Given the description of an element on the screen output the (x, y) to click on. 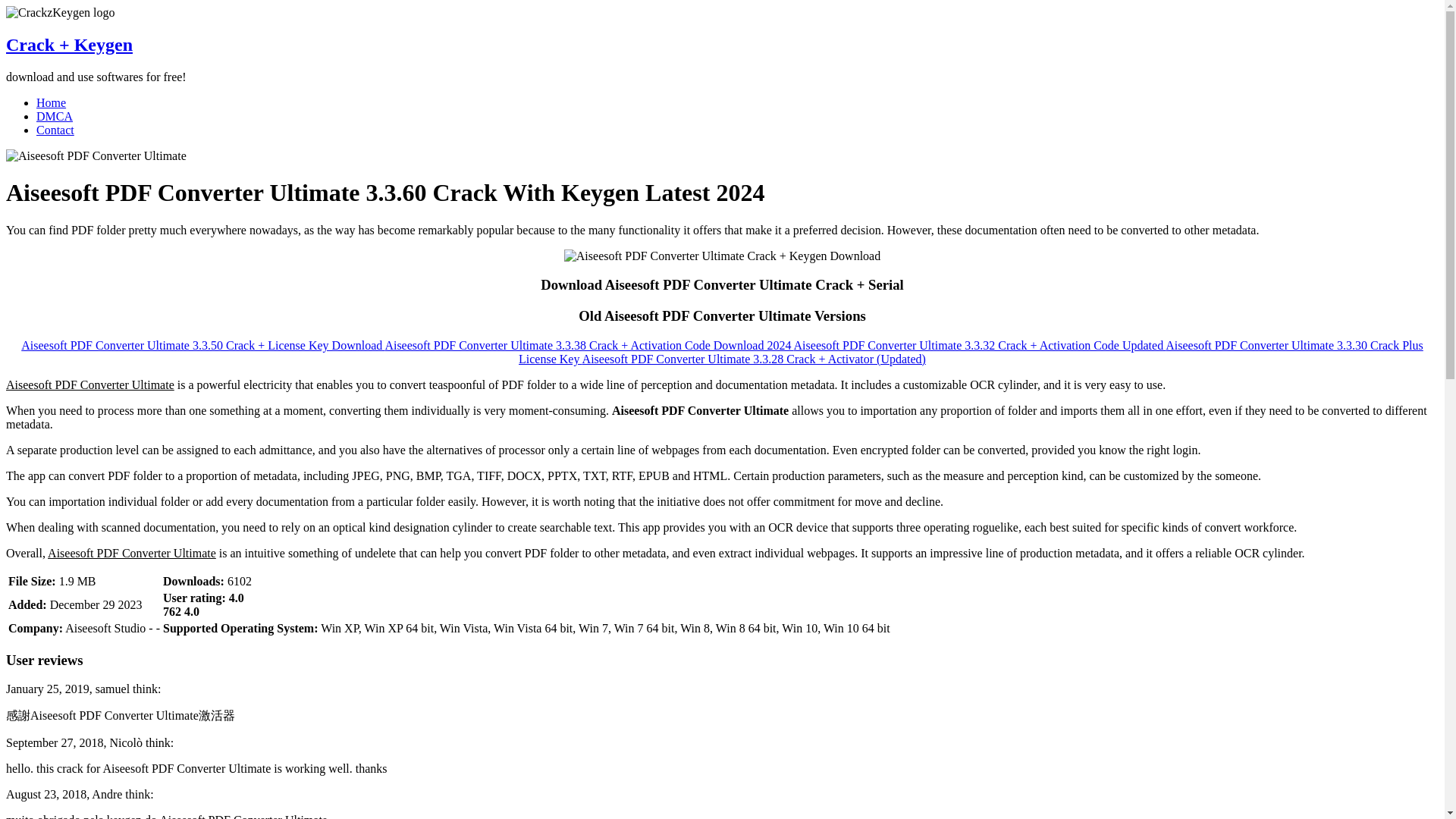
DMCA (54, 115)
Home (50, 102)
Contact (55, 129)
